Given the description of an element on the screen output the (x, y) to click on. 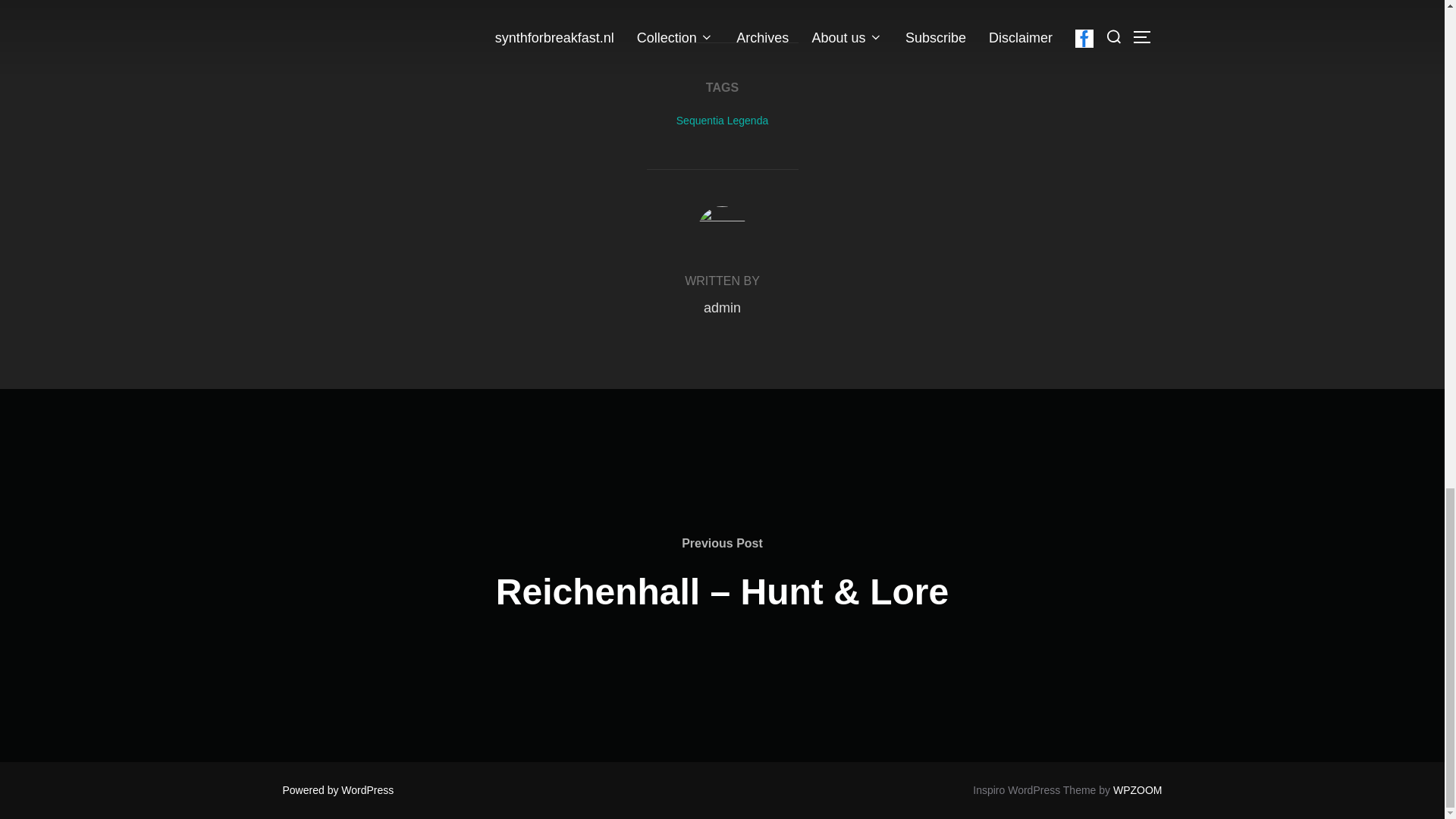
Posts by admin (722, 307)
